Given the description of an element on the screen output the (x, y) to click on. 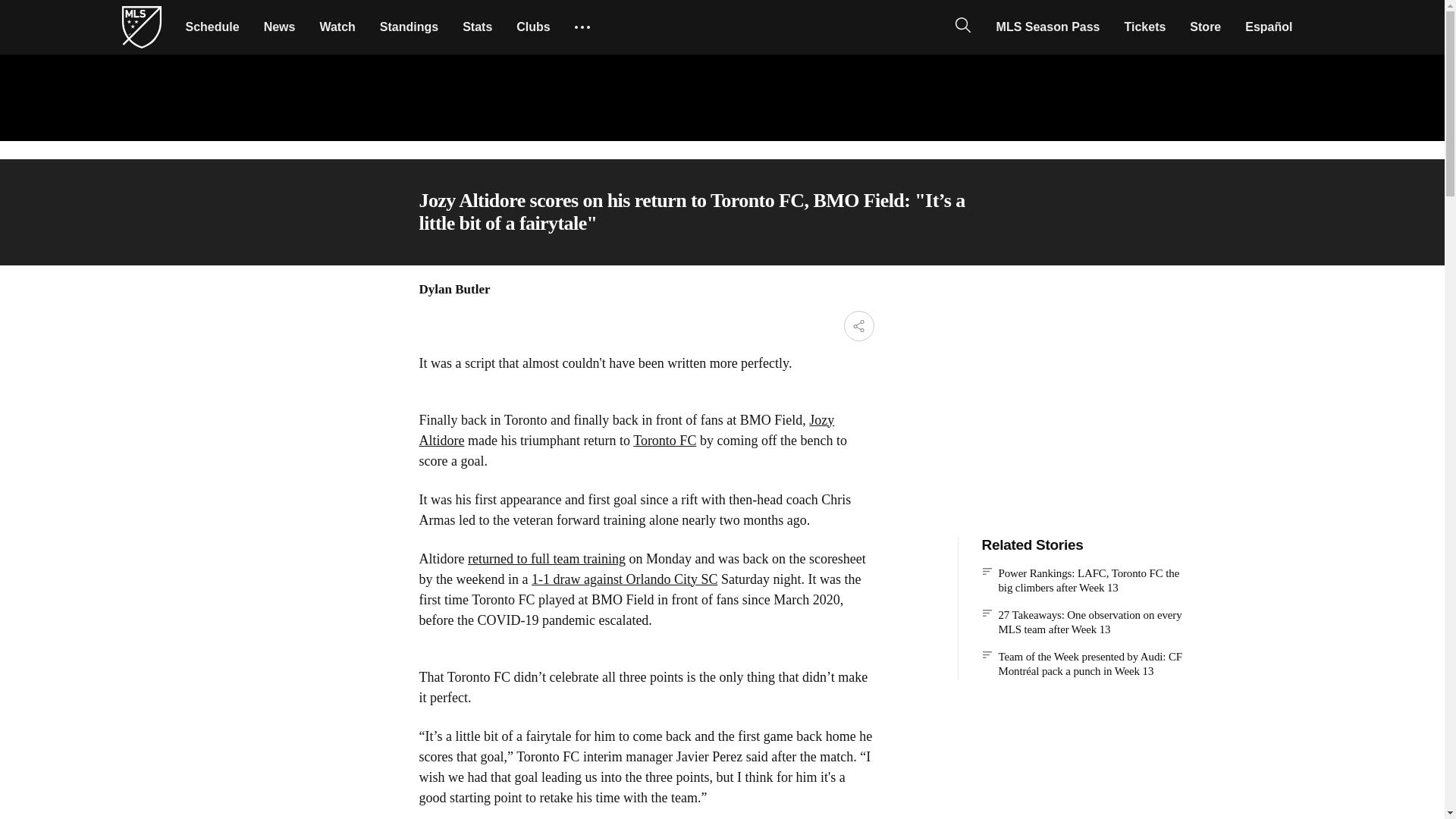
Standings (408, 26)
Stats (476, 26)
News (279, 26)
Watch (336, 26)
Major League Soccer (141, 27)
Schedule (211, 26)
MLS Season Pass (1048, 26)
Clubs (532, 26)
Store (1205, 26)
Tickets (1144, 26)
